Given the description of an element on the screen output the (x, y) to click on. 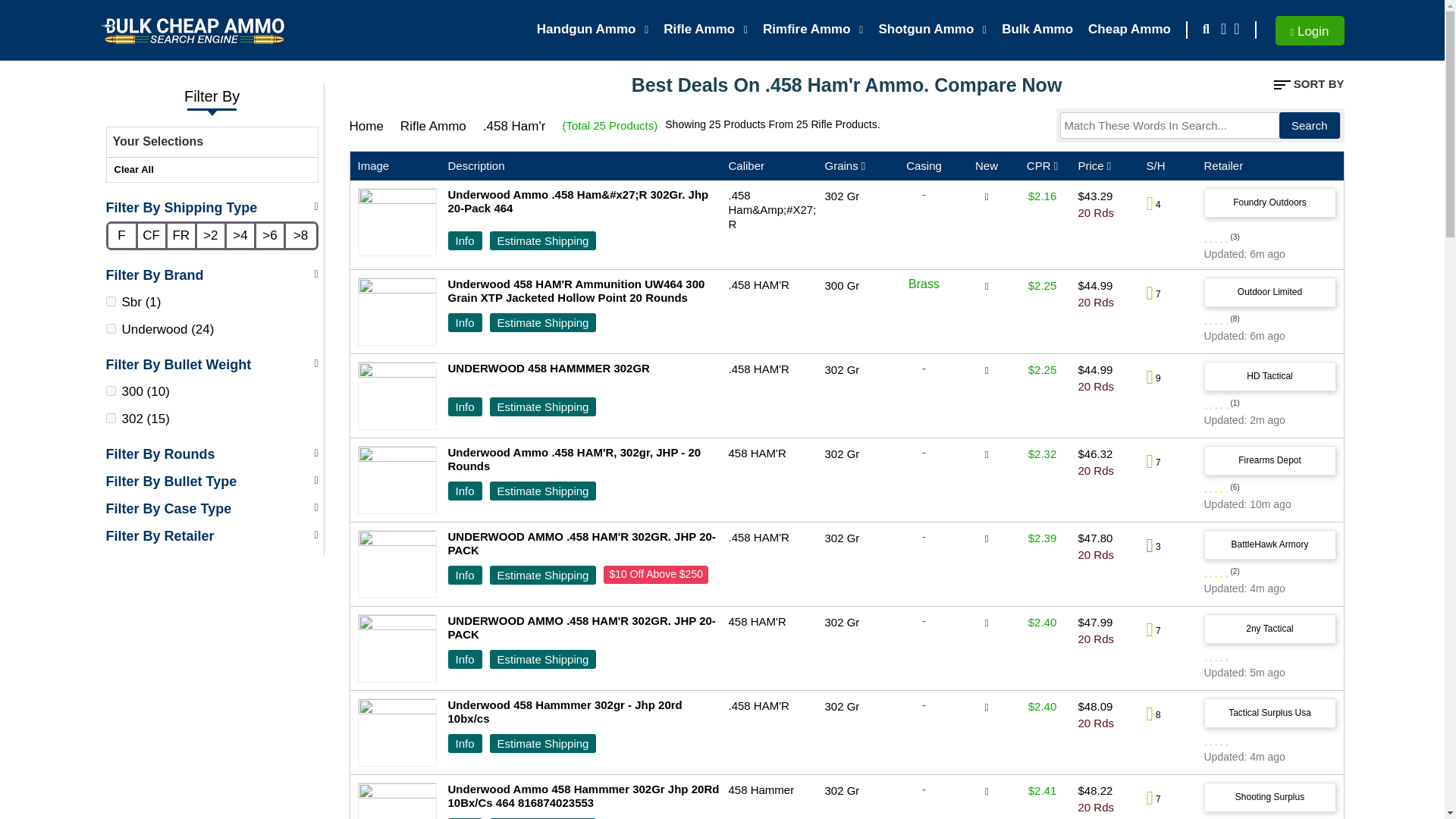
Rifle Ammo (705, 29)
Handgun Ammo (593, 29)
